Given the description of an element on the screen output the (x, y) to click on. 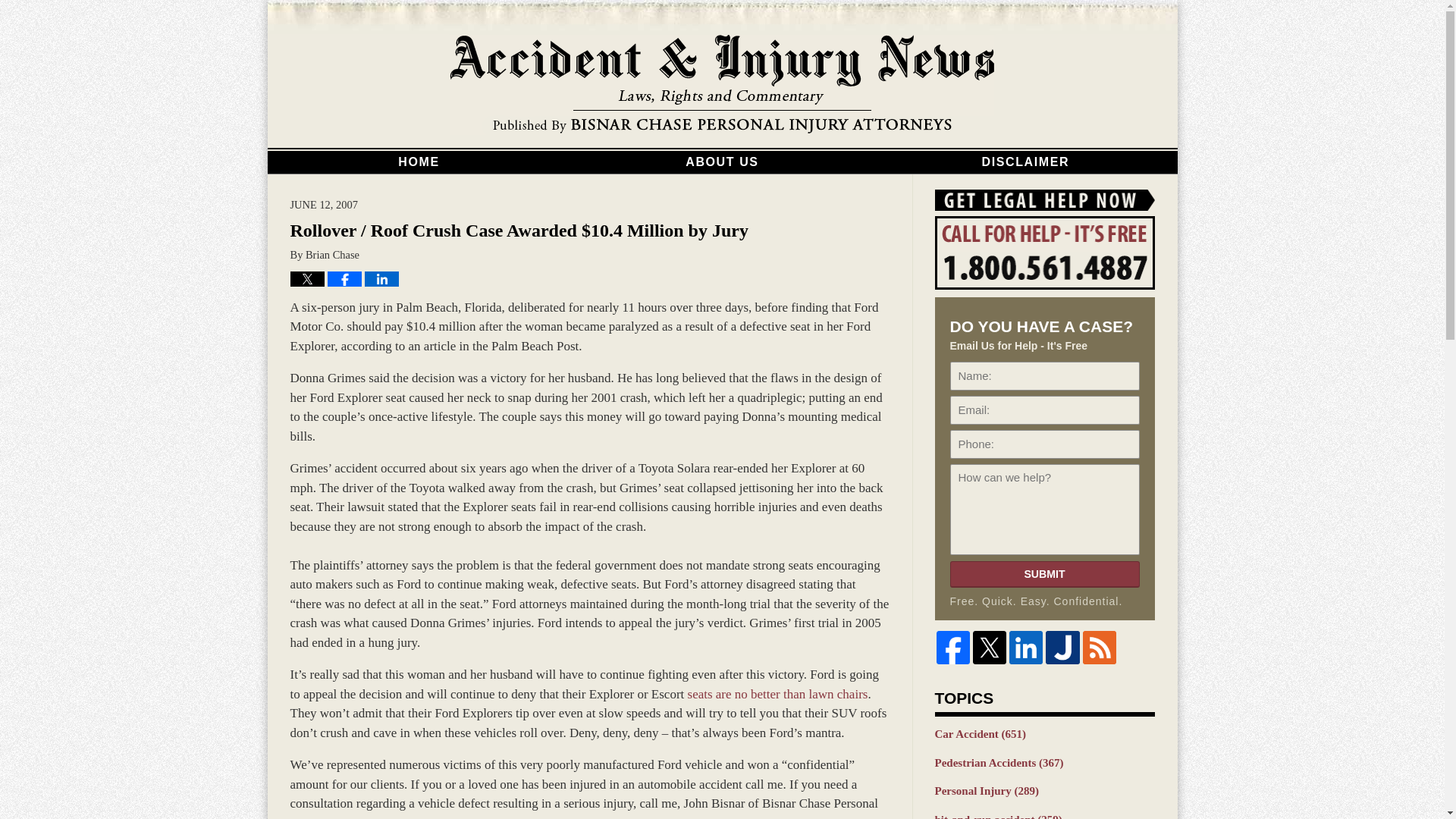
Facebook (952, 647)
ABOUT US (721, 161)
Twitter (989, 647)
Feed (1099, 647)
SUBMIT (1043, 574)
HOME (418, 161)
LinkedIn (1025, 647)
California Injury Blog (721, 84)
DISCLAIMER (1024, 161)
Justia (1061, 647)
seats are no better than lawn chairs (777, 694)
Please enter a valid phone number. (1043, 443)
